Given the description of an element on the screen output the (x, y) to click on. 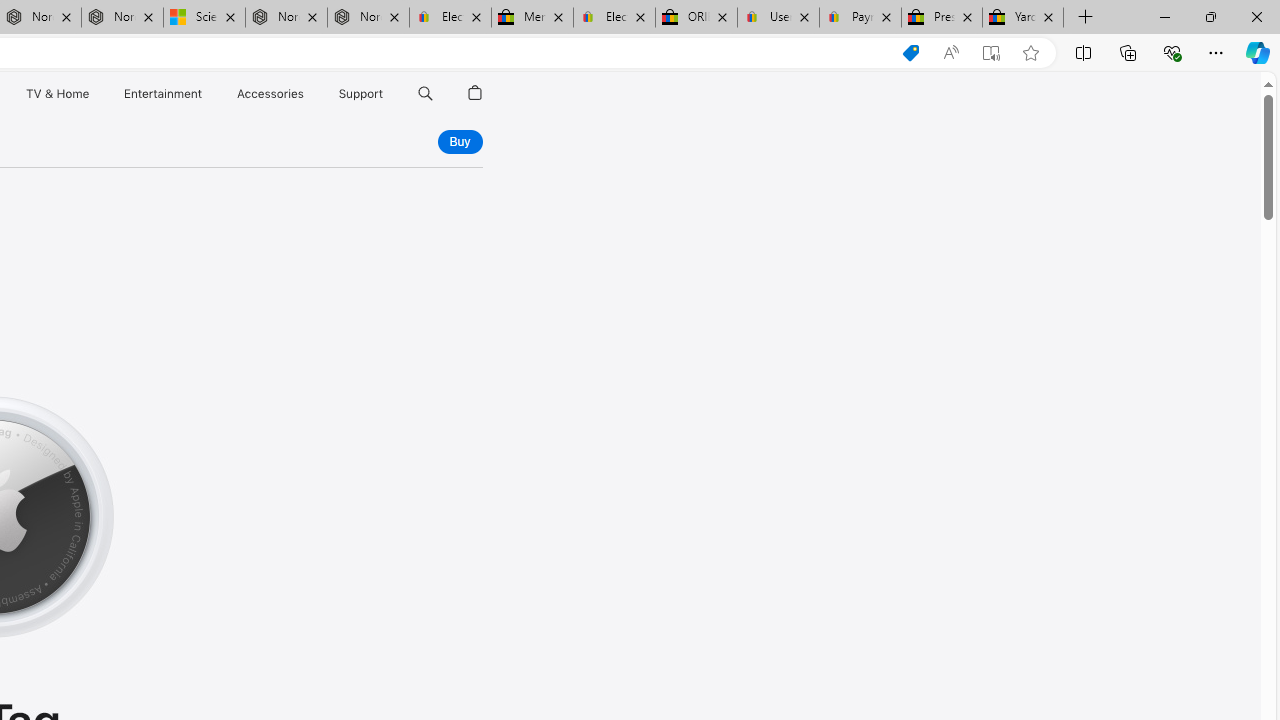
Entertainment (162, 93)
Buy AirTag (459, 142)
Payments Terms of Use | eBay.com (860, 17)
Entertainment (162, 93)
Shopping Bag (475, 93)
AutomationID: globalnav-bag (475, 93)
Nordace - Summer Adventures 2024 (285, 17)
TV and Home (56, 93)
